Given the description of an element on the screen output the (x, y) to click on. 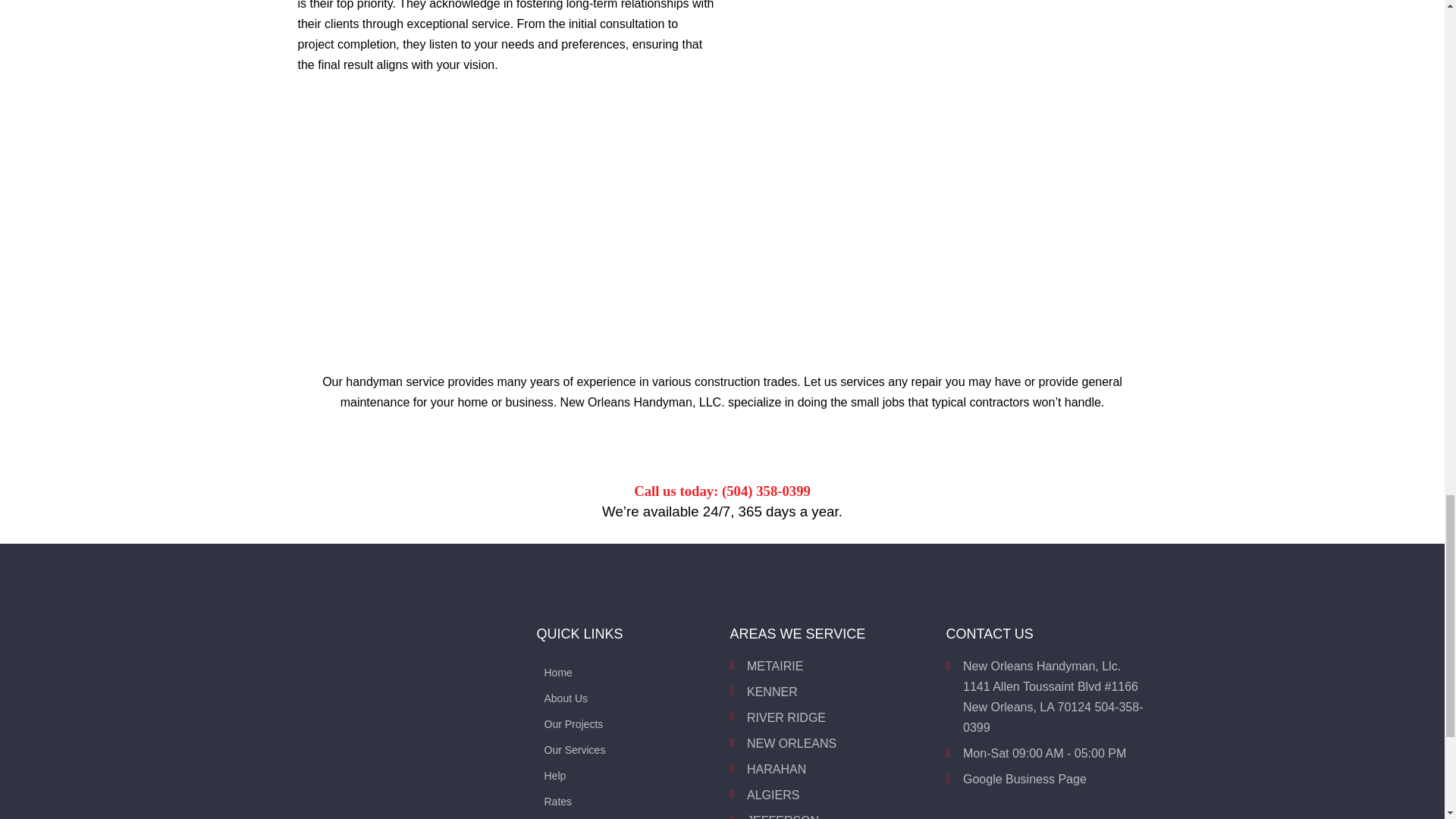
NEW ORLEANS (829, 743)
Contact Us (625, 814)
METAIRIE (829, 666)
RIVER RIDGE (829, 717)
About Us (625, 694)
Our Projects (625, 720)
Home (625, 668)
Our Services (625, 746)
KENNER (829, 691)
Rates (625, 797)
Help (625, 771)
